Given the description of an element on the screen output the (x, y) to click on. 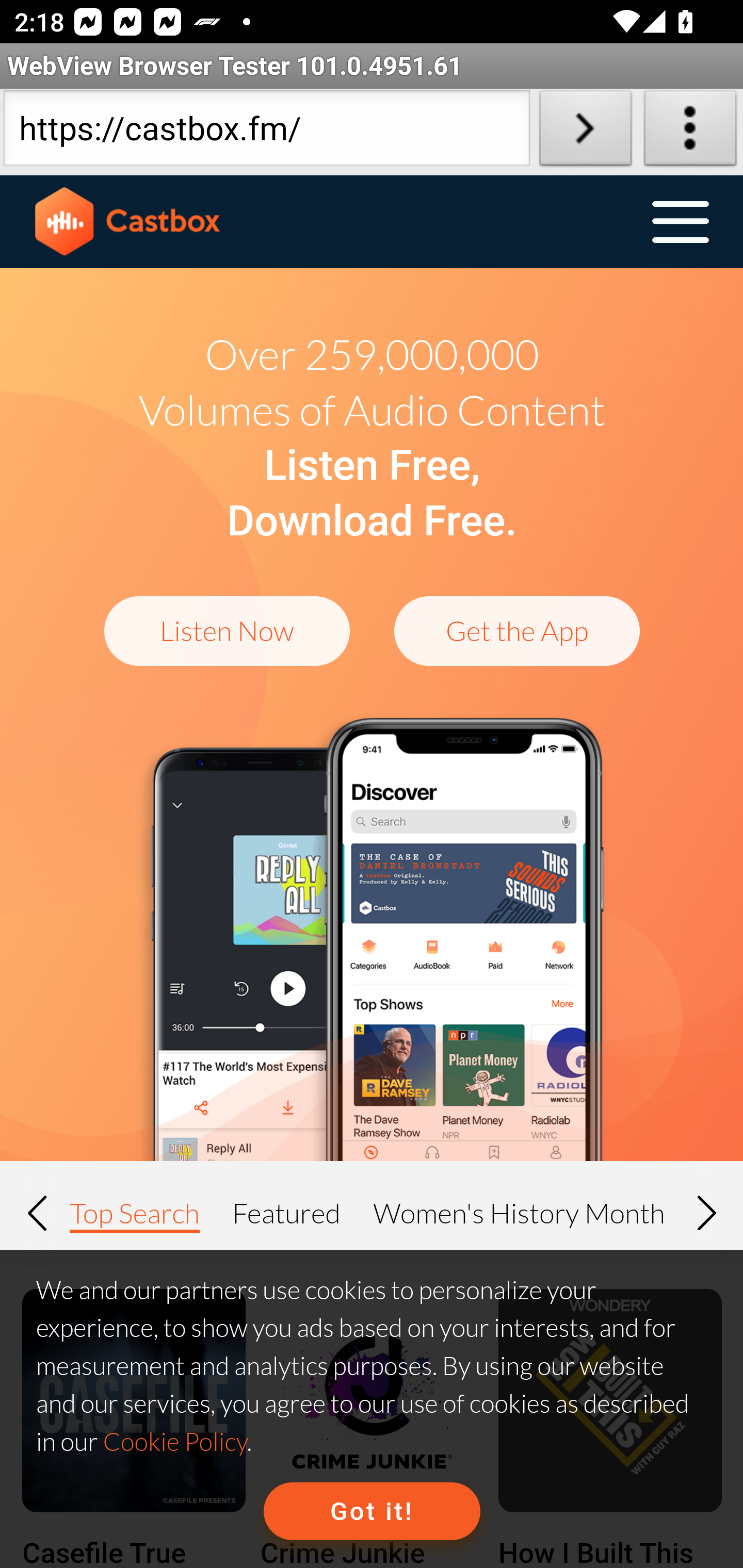
https://castbox.fm/ (266, 132)
Load URL (585, 132)
About WebView (690, 132)
Castbox (128, 222)
menu (679, 222)
Listen Now (226, 630)
Get the App (517, 630)
Cookie Policy (174, 1440)
Got it! (371, 1511)
